Given the description of an element on the screen output the (x, y) to click on. 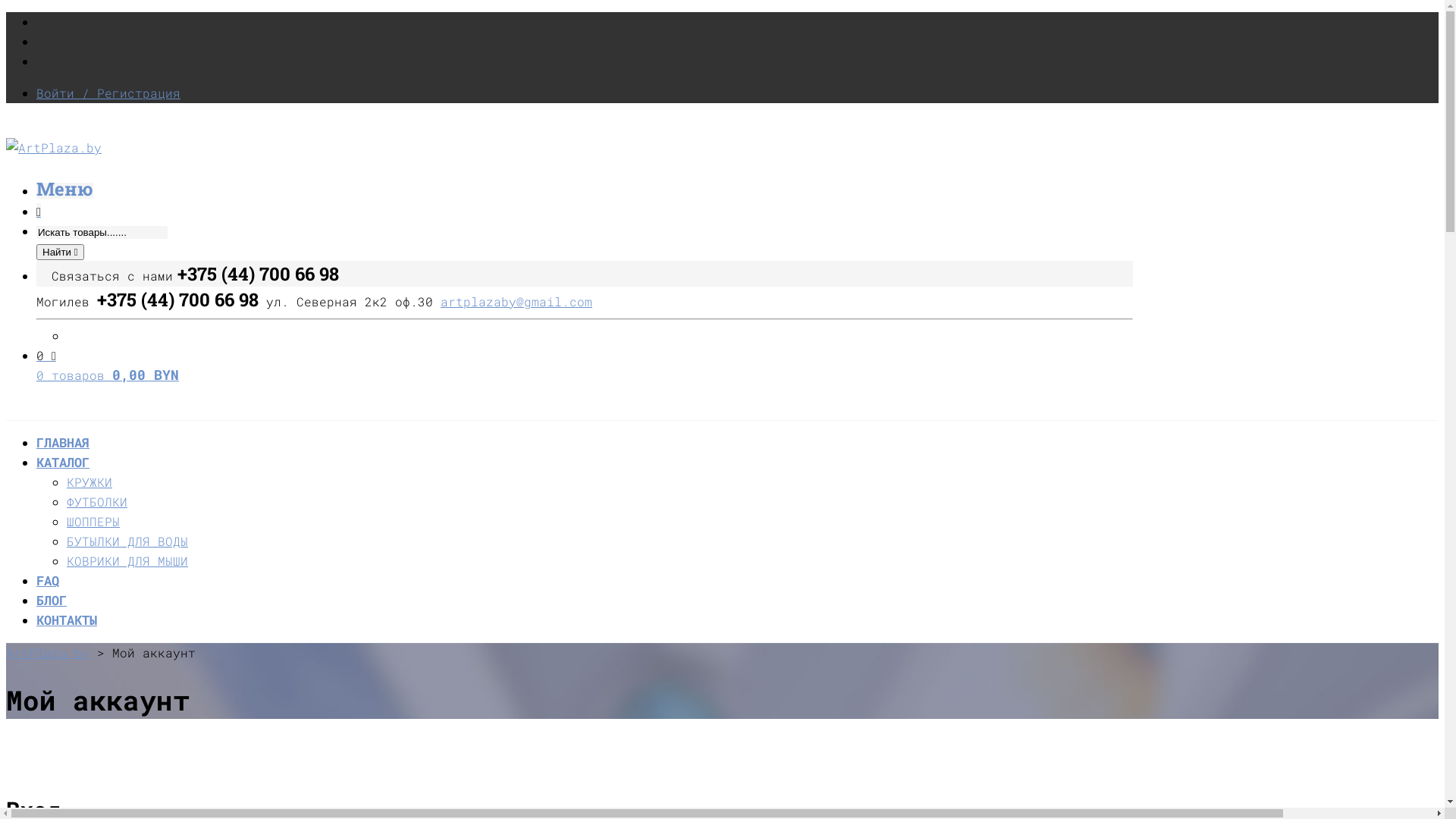
FAQ Element type: text (47, 580)
ArtPlaza.by Element type: text (47, 652)
artplazaby@gmail.com Element type: text (516, 300)
